Given the description of an element on the screen output the (x, y) to click on. 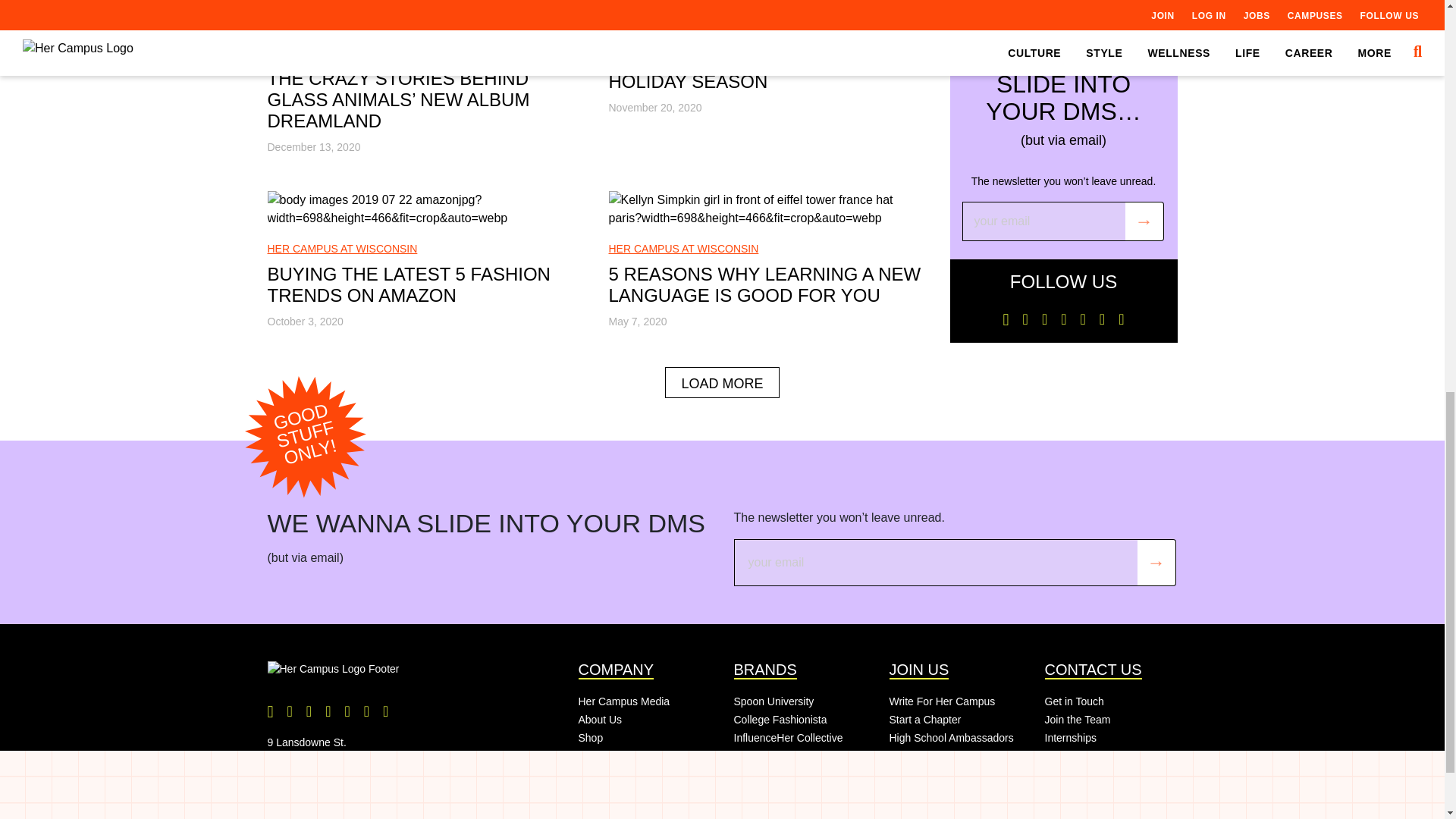
5 Ways to Covid-Proof the Holiday Season 8 (767, 6)
Buying the Latest 5 Fashion Trends on Amazon 9 (425, 208)
5 Reasons Why Learning a New Language is Good for You 10 (767, 208)
